Given the description of an element on the screen output the (x, y) to click on. 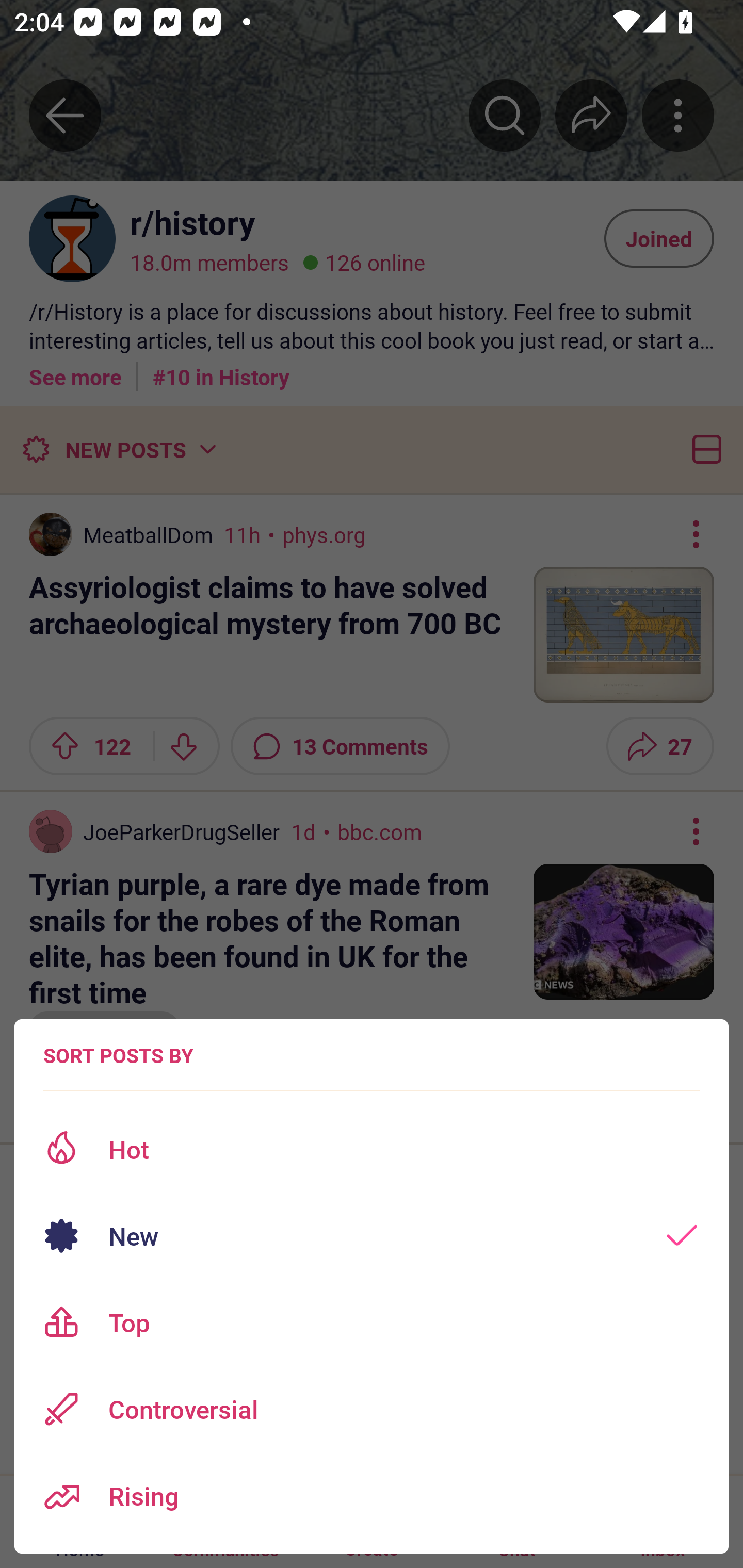
SORT POSTS BY Sort posts options (118, 1055)
Hot (371, 1149)
New (371, 1236)
Top (371, 1322)
Controversial (371, 1408)
Rising (371, 1495)
